Given the description of an element on the screen output the (x, y) to click on. 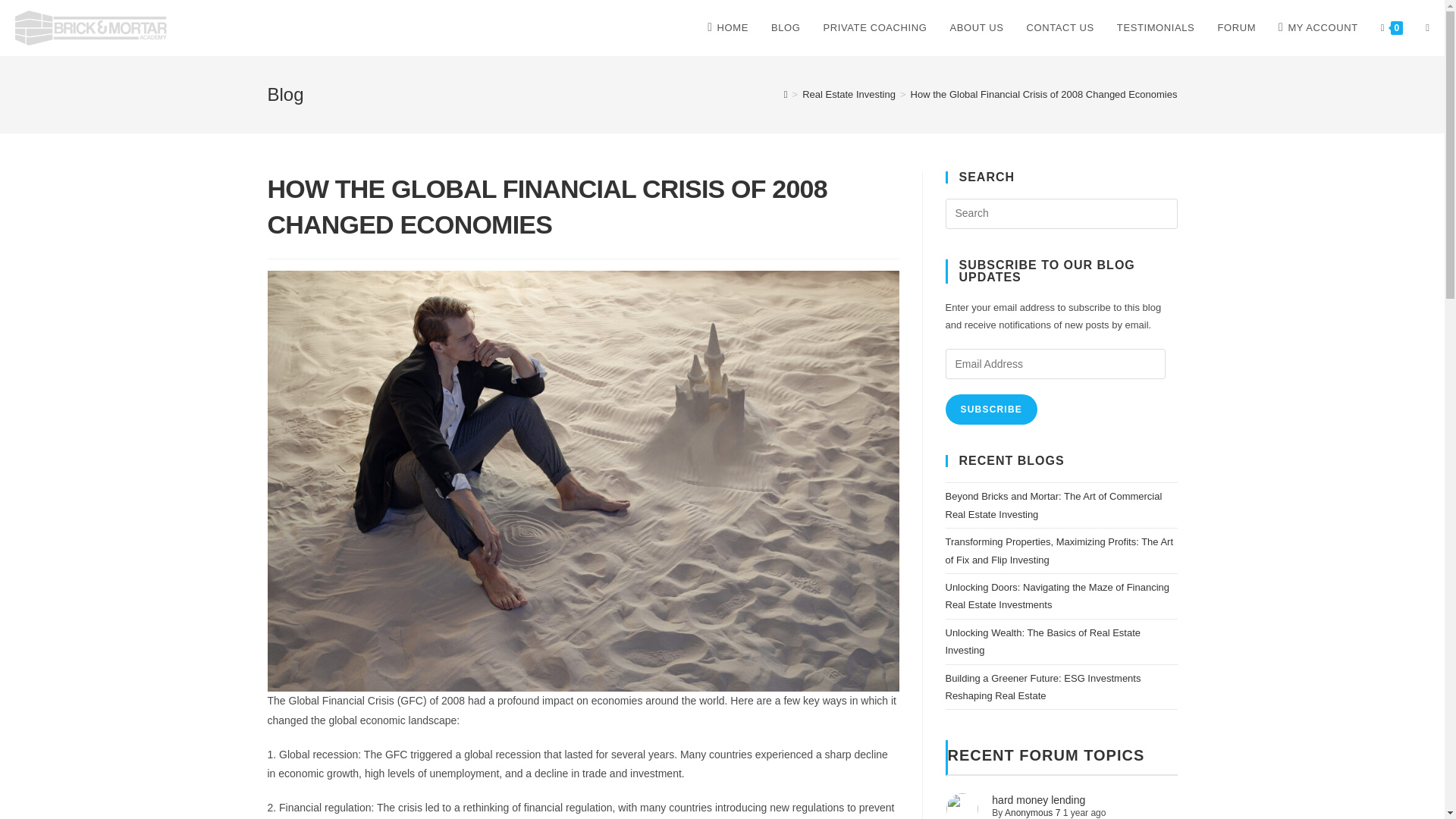
MY ACCOUNT (1318, 28)
PRIVATE COACHING (875, 28)
Real Estate Investing (848, 93)
FORUM (1235, 28)
hard money lending (1037, 799)
How the Global Financial Crisis of 2008 Changed Economies (1044, 93)
ABOUT US (976, 28)
BLOG (786, 28)
CONTACT US (1059, 28)
TESTIMONIALS (1156, 28)
